Given the description of an element on the screen output the (x, y) to click on. 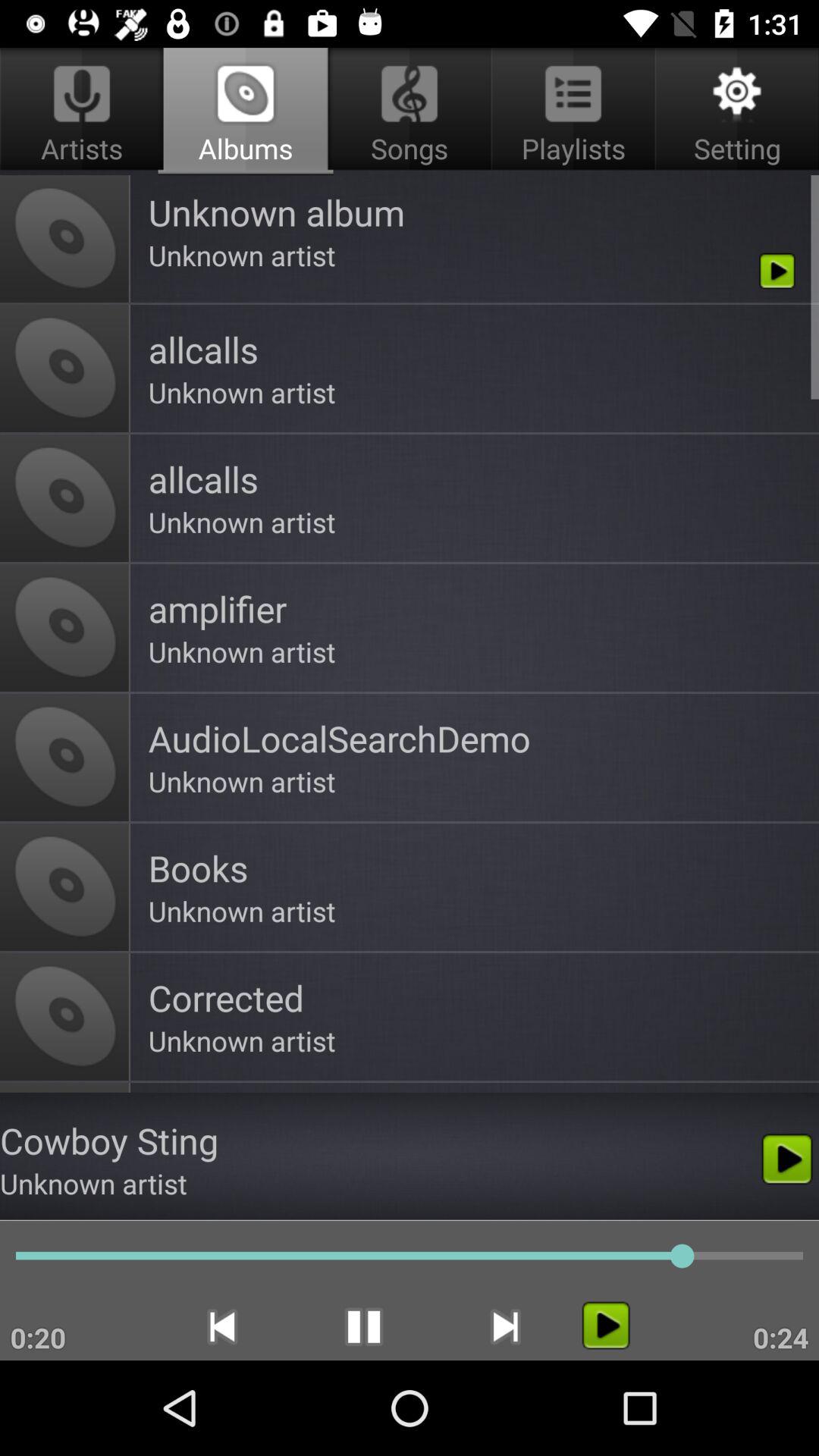
play button (605, 1325)
